Given the description of an element on the screen output the (x, y) to click on. 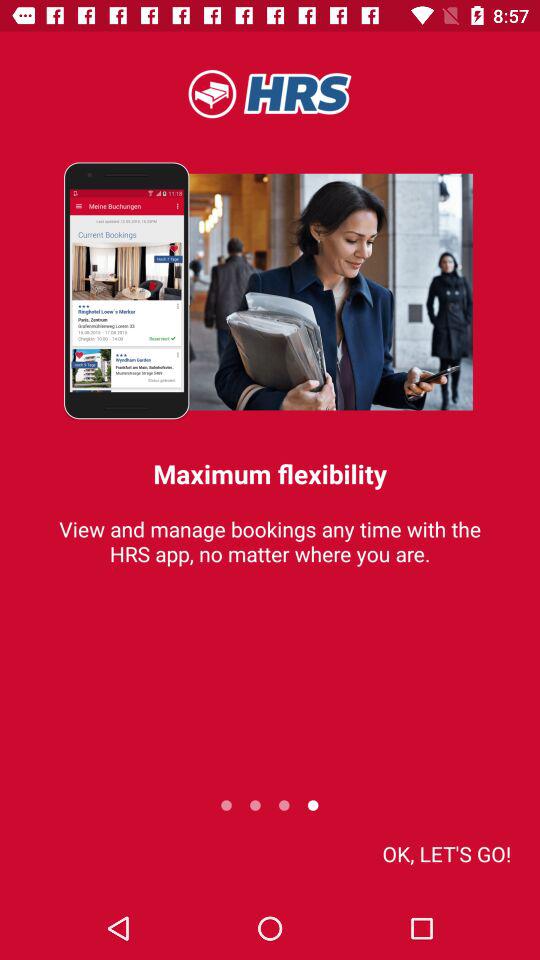
jump to ok let s (446, 853)
